Given the description of an element on the screen output the (x, y) to click on. 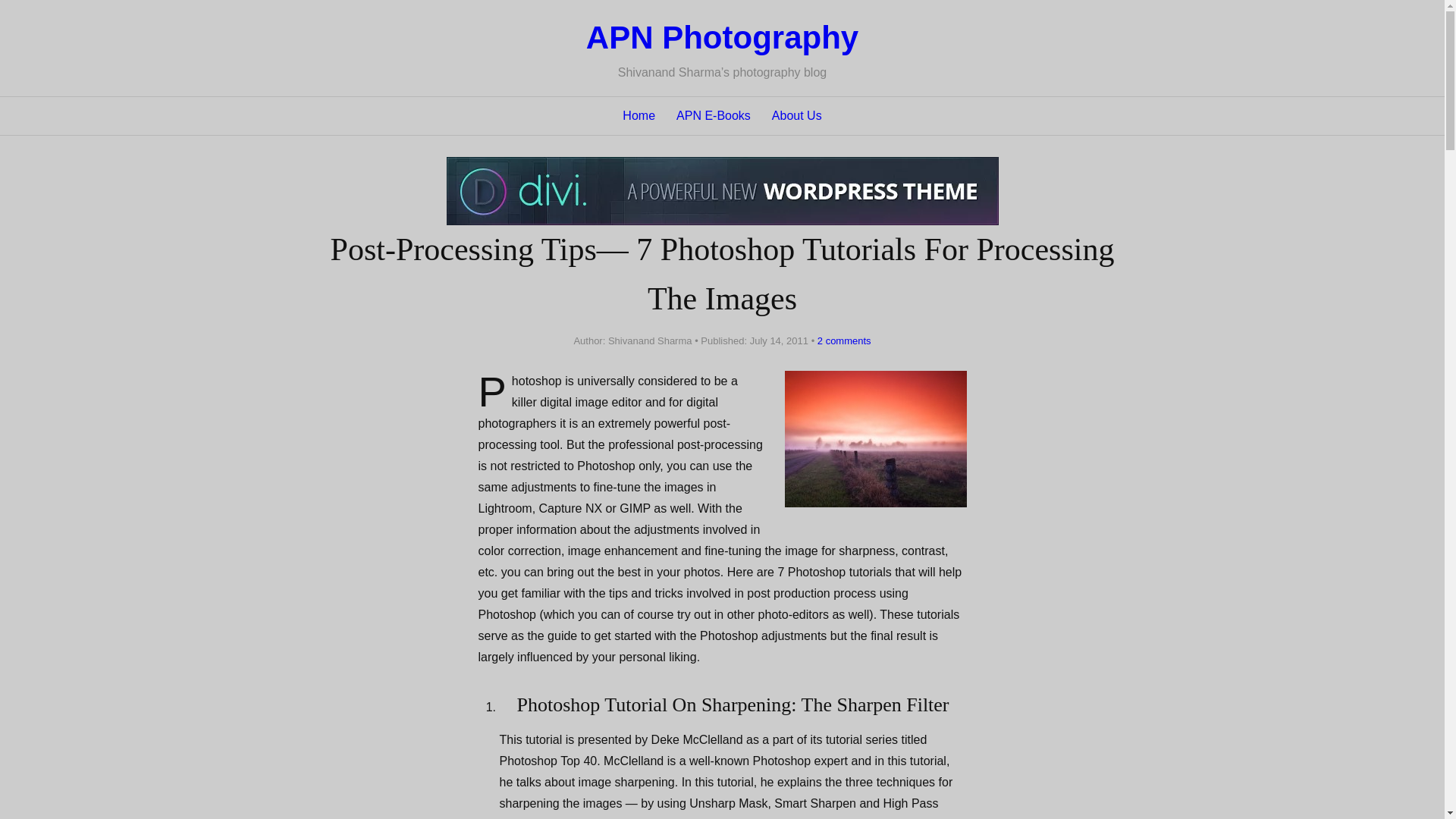
About Us (796, 116)
APN Photography (722, 37)
2011-07-14 (778, 340)
destination unwind (875, 438)
2 comments (840, 340)
APN E-Books (714, 116)
